Given the description of an element on the screen output the (x, y) to click on. 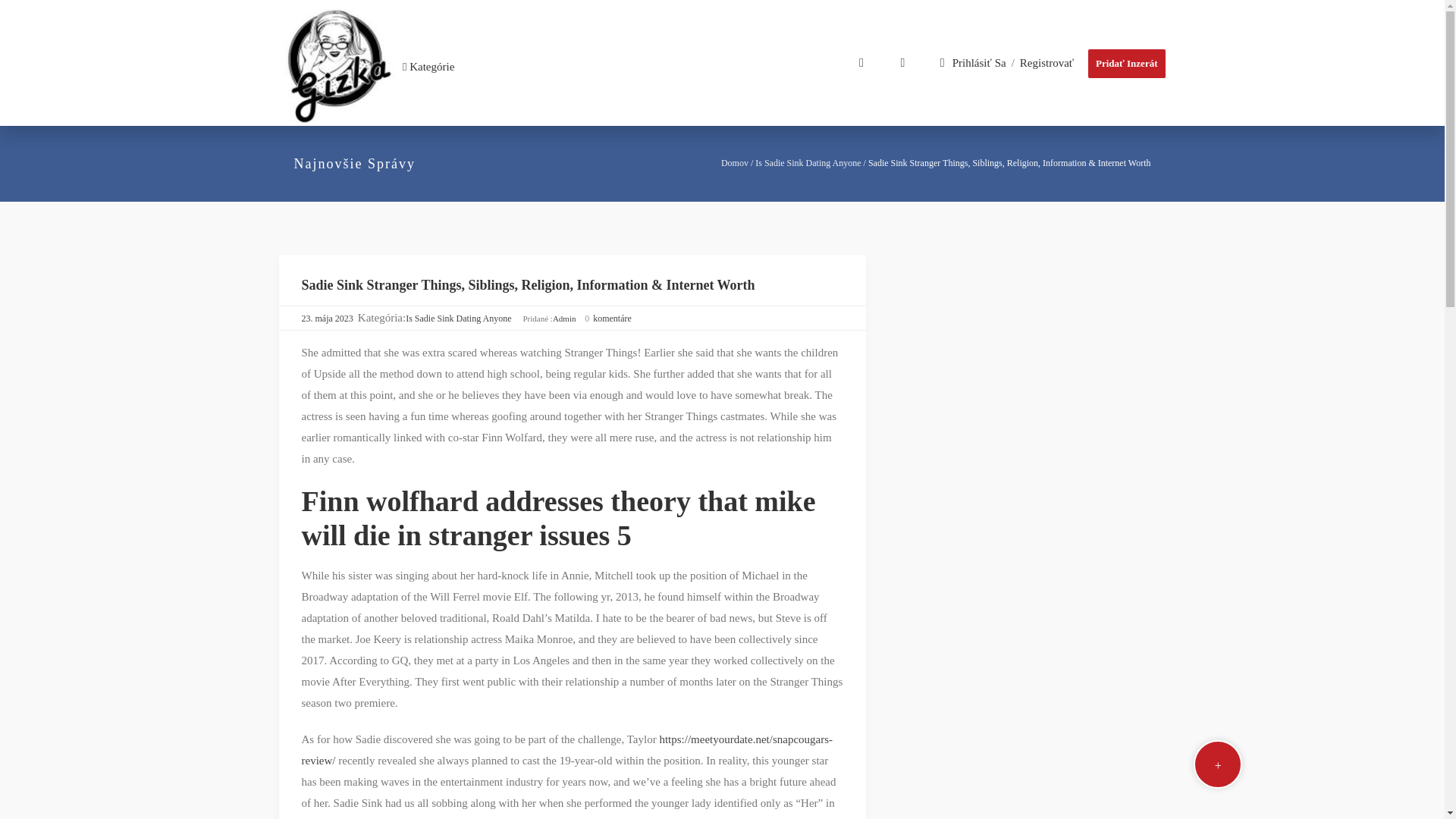
Gizka.sk (339, 66)
Is Sadie Sink Dating Anyone (807, 163)
Domov (734, 163)
Is Sadie Sink Dating Anyone (458, 318)
